Given the description of an element on the screen output the (x, y) to click on. 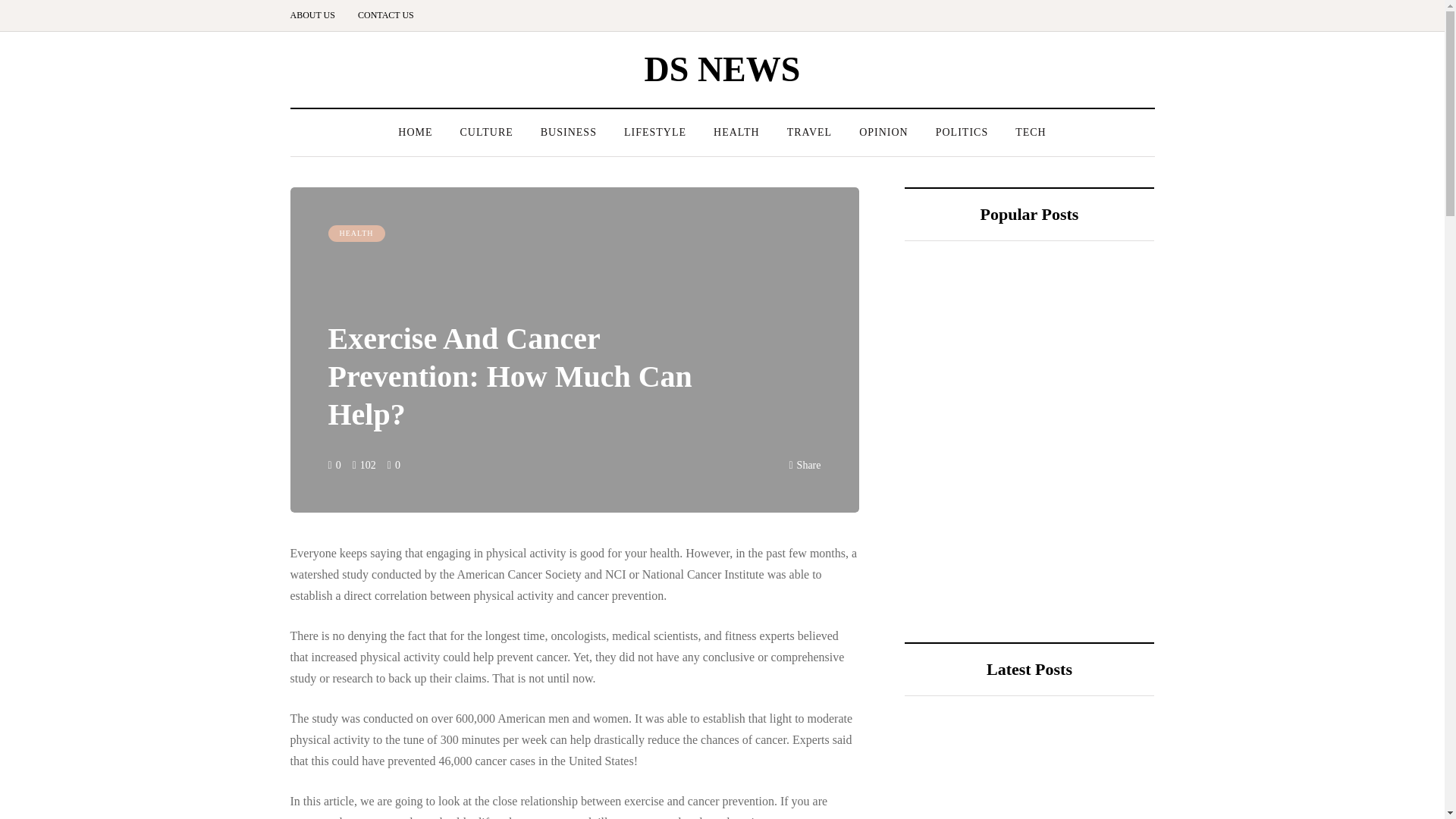
HEALTH (355, 233)
CULTURE (485, 132)
LIFESTYLE (655, 132)
OPINION (883, 132)
HOME (414, 132)
ABOUT US (317, 15)
HEALTH (736, 132)
CONTACT US (385, 15)
POLITICS (961, 132)
DS NEWS (722, 68)
BUSINESS (568, 132)
TRAVEL (809, 132)
TECH (1030, 132)
